Given the description of an element on the screen output the (x, y) to click on. 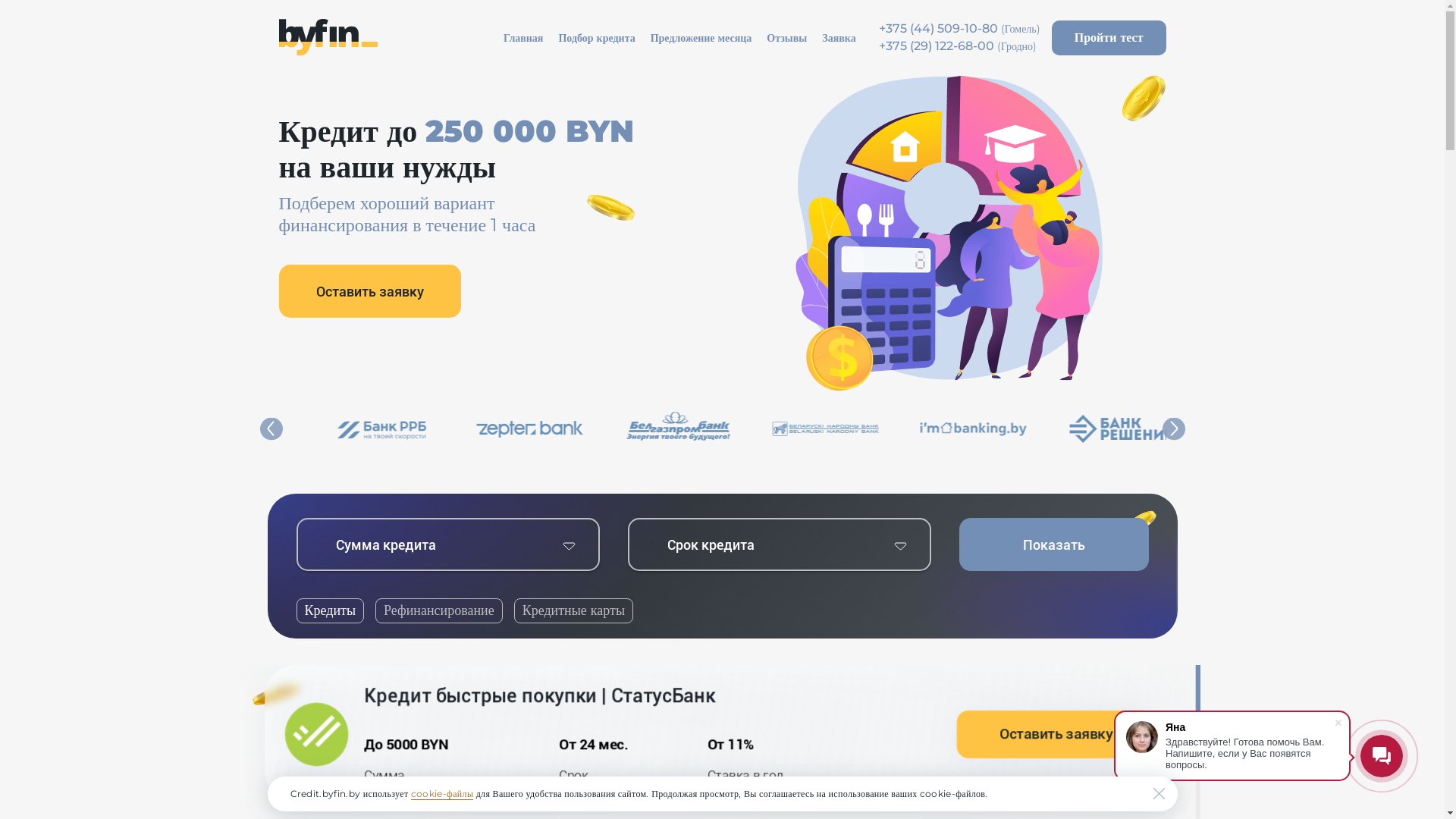
1 Element type: text (9, 11)
Next Element type: text (1172, 428)
Previous Element type: text (270, 428)
logo byfin Element type: hover (328, 37)
